Given the description of an element on the screen output the (x, y) to click on. 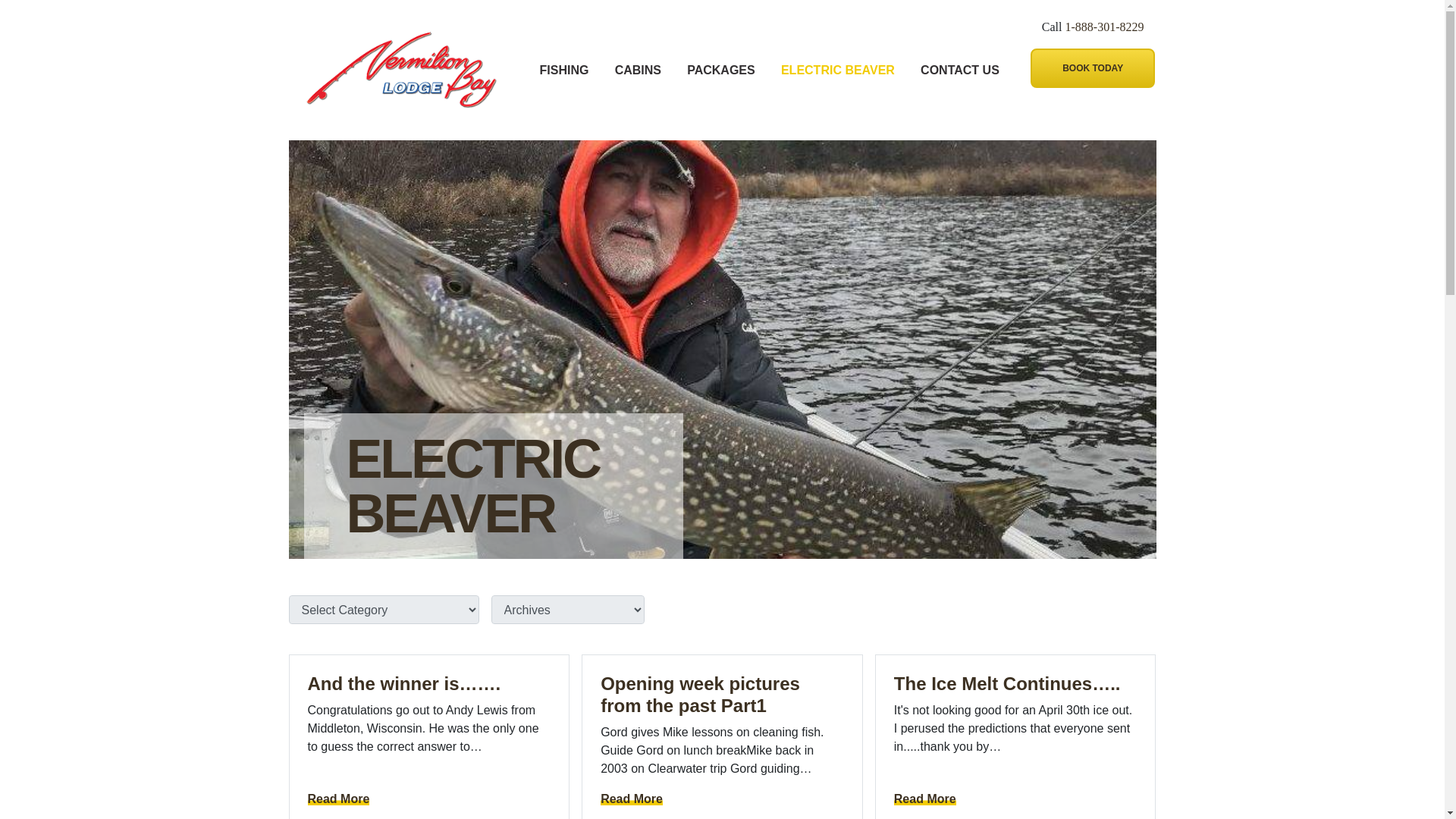
Read More (924, 798)
Cabins (637, 69)
CABINS (637, 69)
ELECTRIC BEAVER (837, 69)
1-888-301-8229 (1104, 26)
Packages (721, 69)
FISHING (564, 69)
BOOK TODAY (1092, 67)
Electric Beaver (837, 69)
PACKAGES (721, 69)
Fishing (564, 69)
Read More (338, 798)
CONTACT US (960, 69)
Read More (630, 798)
Contact Us (960, 69)
